Given the description of an element on the screen output the (x, y) to click on. 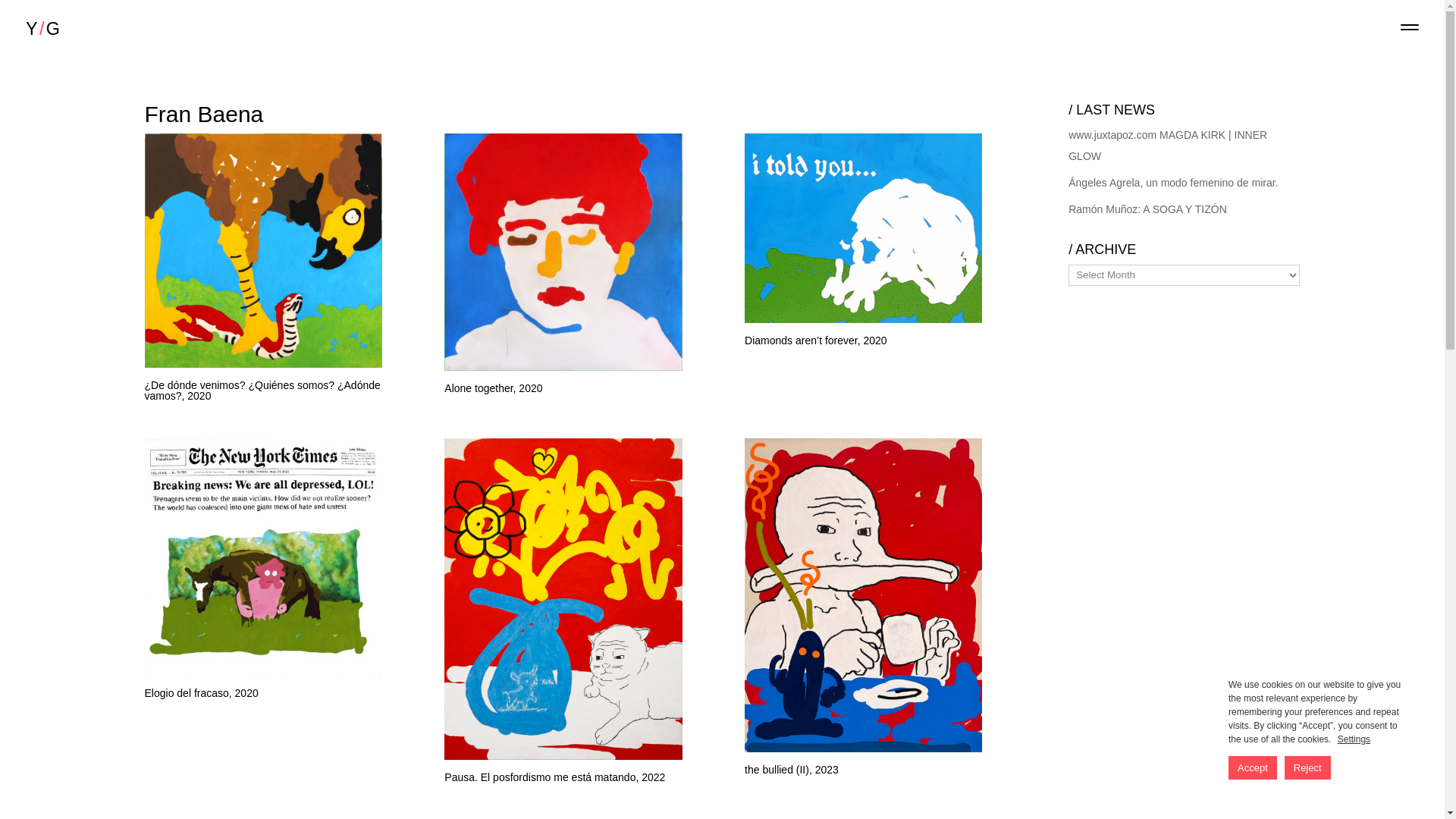
Settings (1354, 738)
Alone together, 2020 (562, 265)
Reject (1307, 767)
Accept (1252, 767)
Elogio del fracaso, 2020 (262, 570)
